Given the description of an element on the screen output the (x, y) to click on. 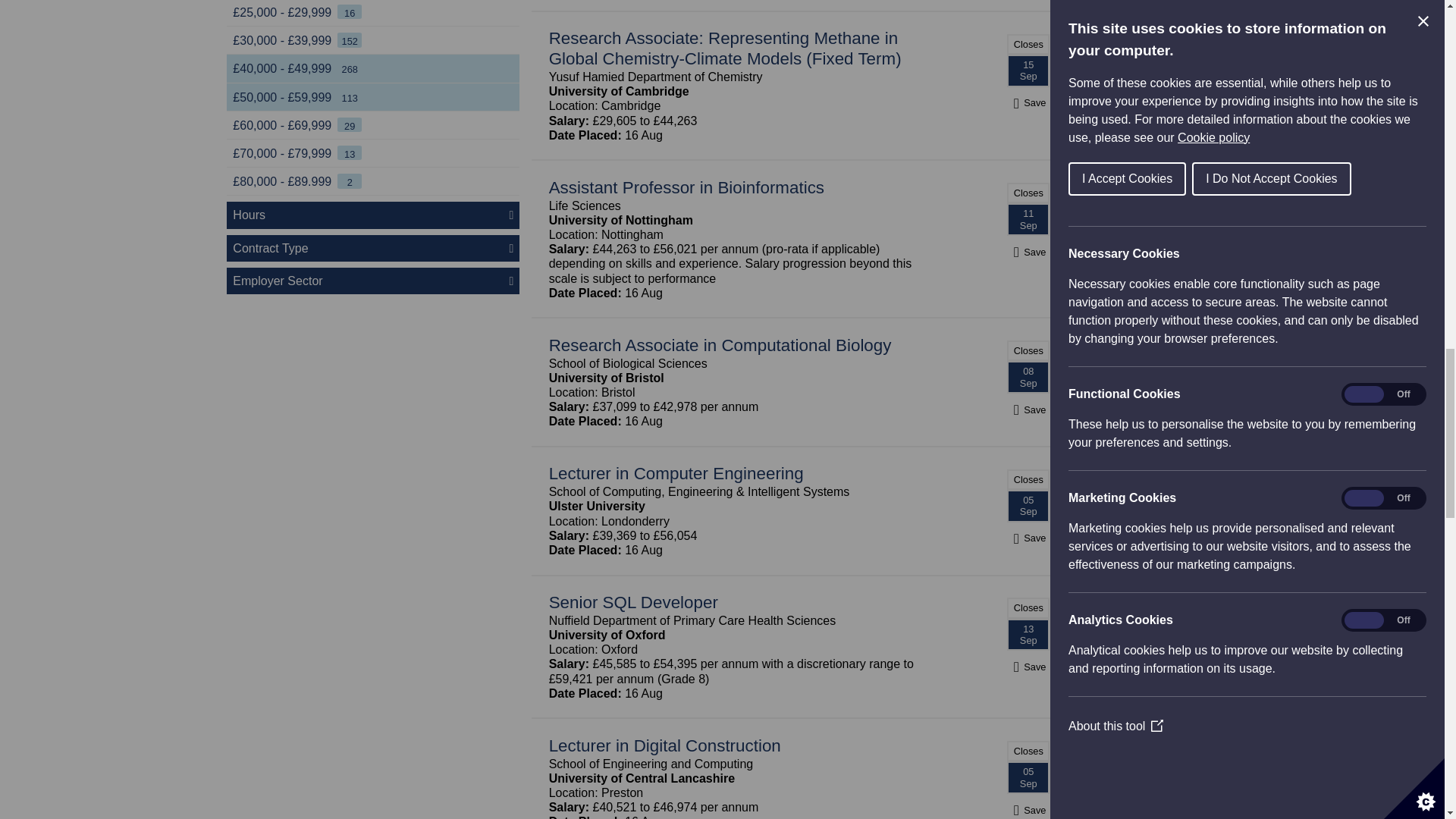
Save job (1027, 251)
Save job (1027, 537)
Save job (1027, 102)
Save job (1027, 666)
Save job (1027, 409)
